Given the description of an element on the screen output the (x, y) to click on. 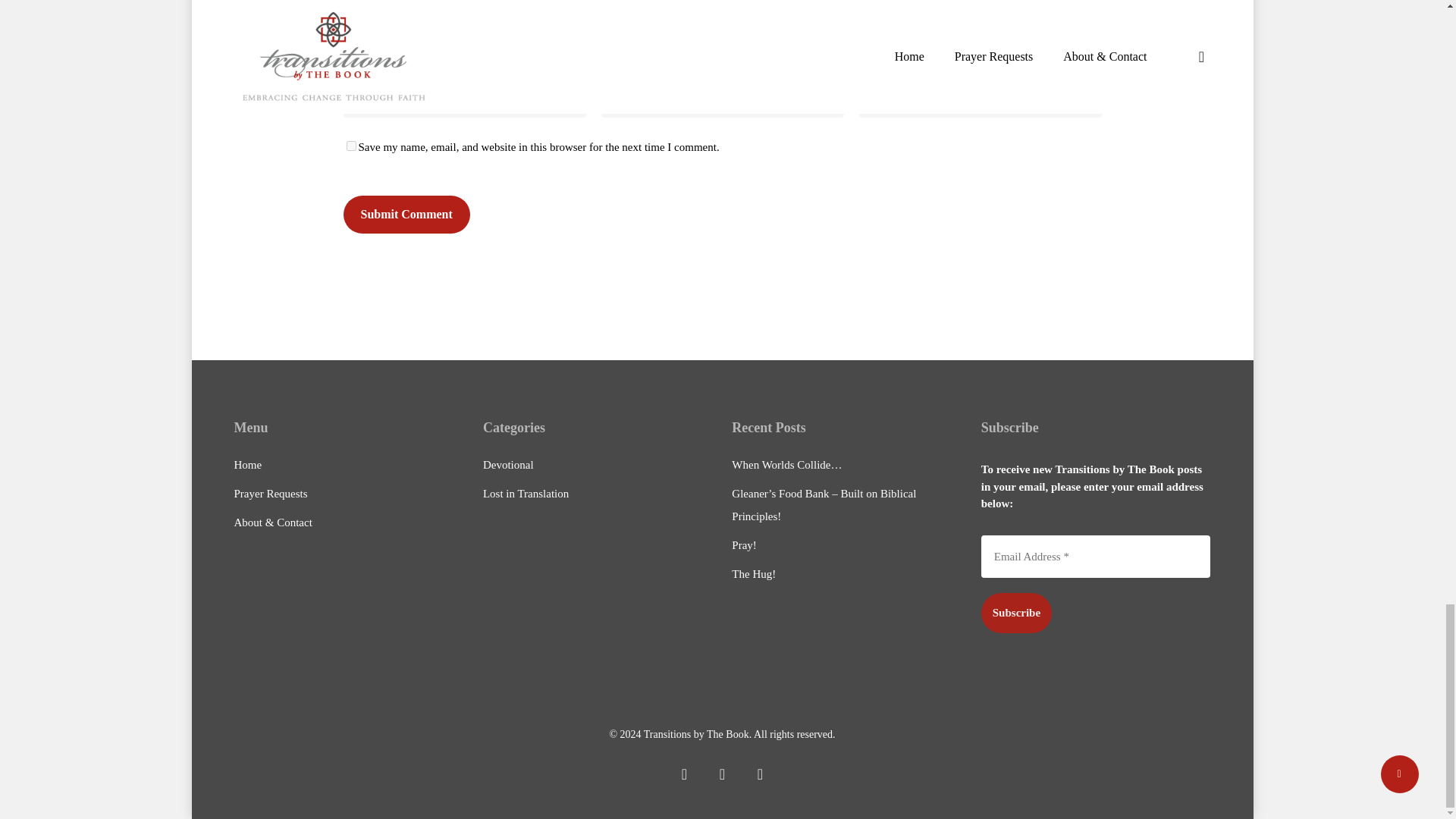
Submit Comment (405, 214)
Submit Comment (405, 214)
Email Address (1096, 556)
yes (350, 145)
Subscribe (1016, 612)
